Given the description of an element on the screen output the (x, y) to click on. 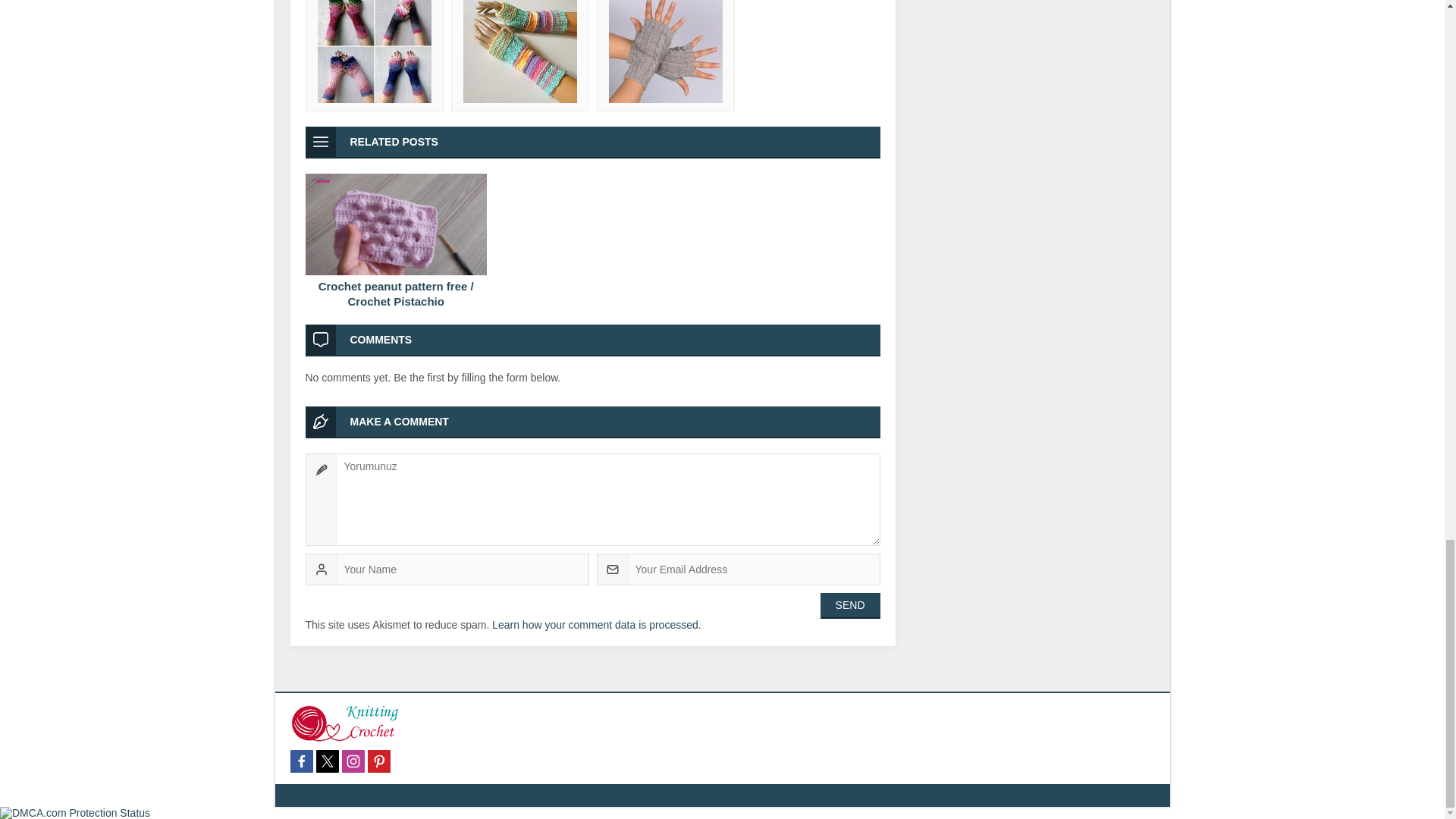
Send (850, 605)
